Given the description of an element on the screen output the (x, y) to click on. 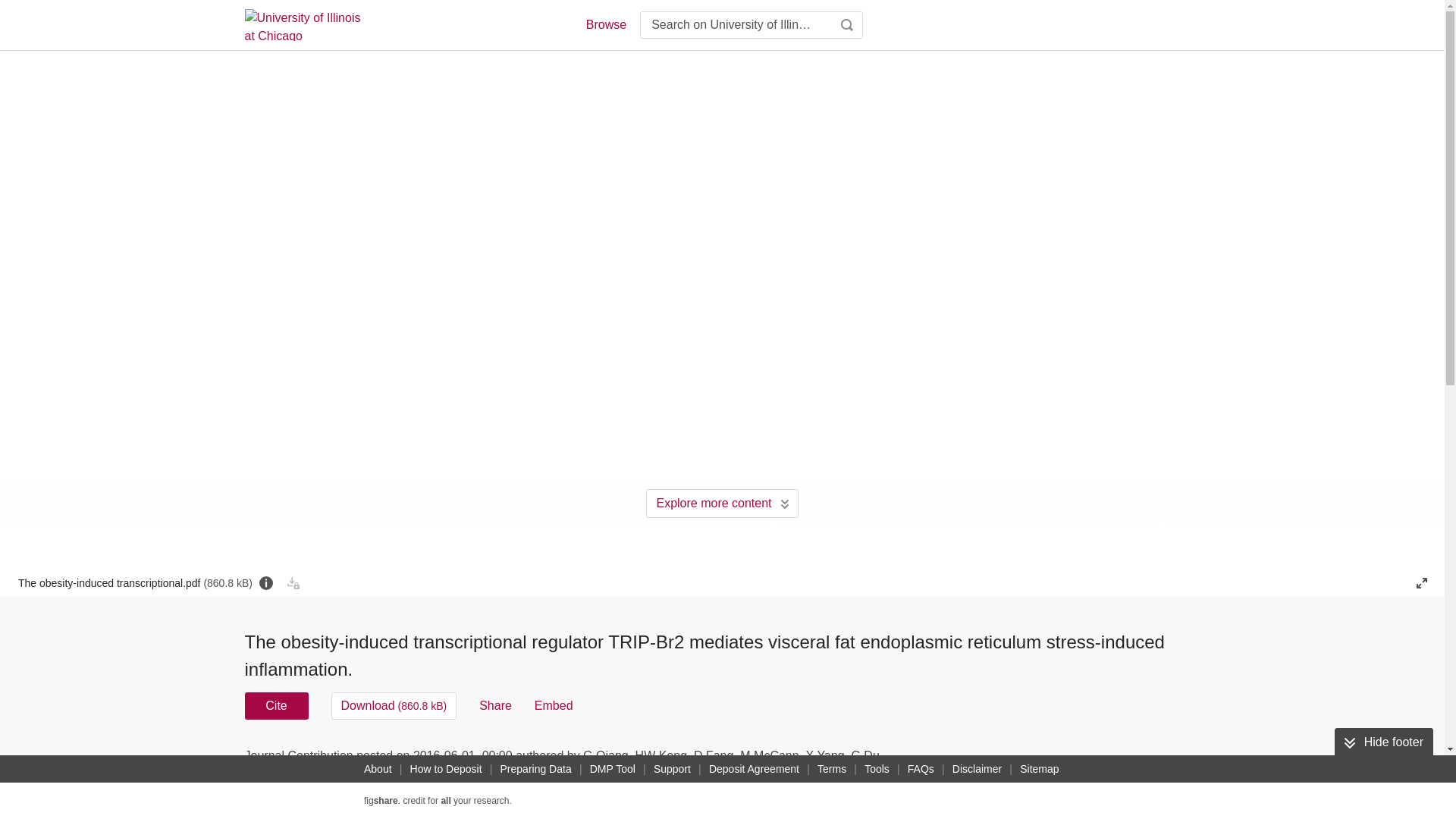
USAGE METRICS (976, 759)
Share (495, 705)
FAQs (920, 769)
How to Deposit (446, 769)
Support (672, 769)
About (377, 769)
Sitemap (1038, 769)
Terms (831, 769)
Embed (553, 705)
Deposit Agreement (753, 769)
Hide footer (1383, 742)
Preparing Data (536, 769)
Cite (275, 705)
The obesity-induced transcriptional.pdf (134, 583)
